Given the description of an element on the screen output the (x, y) to click on. 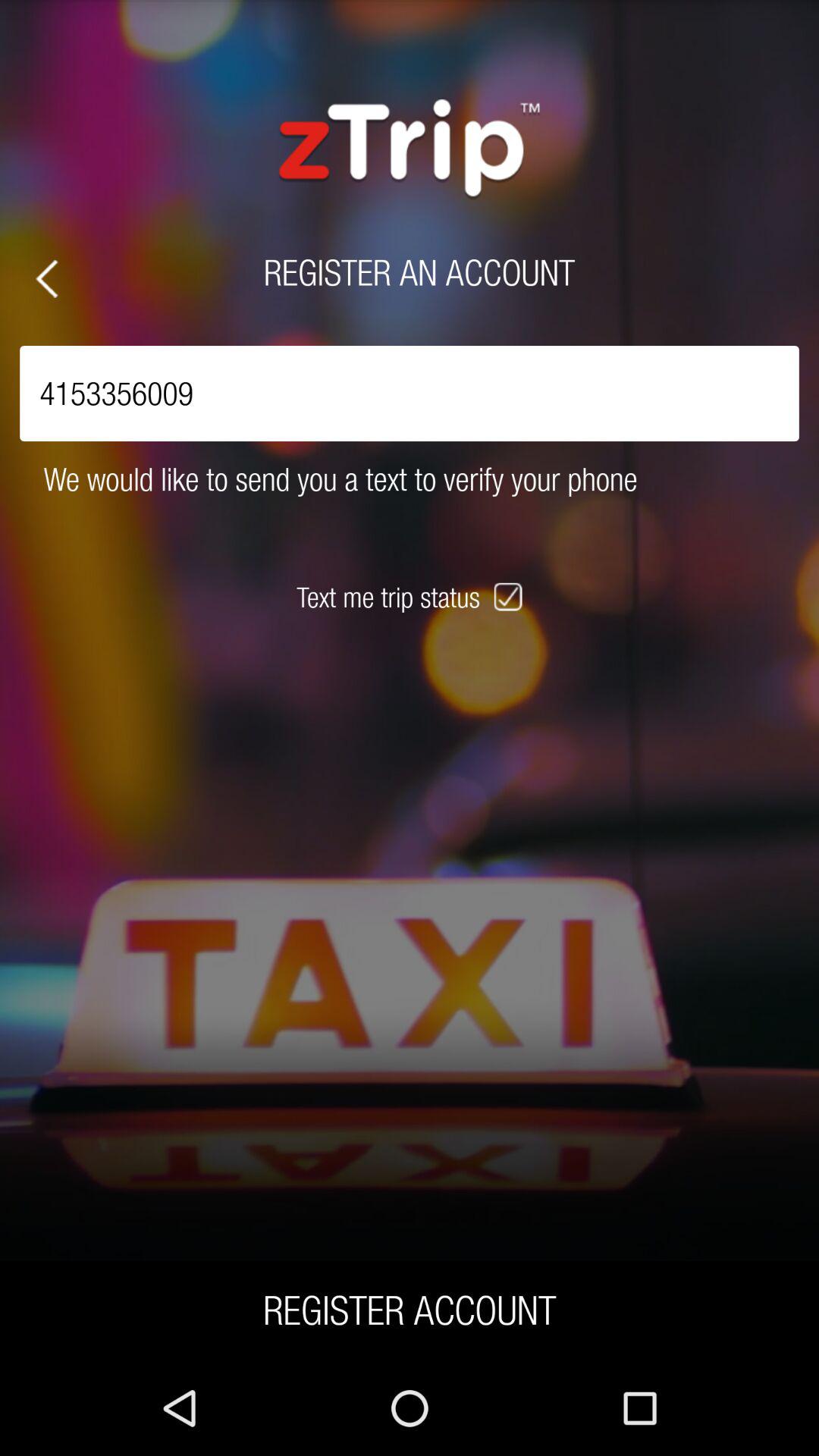
click 4153356009 (409, 393)
